Given the description of an element on the screen output the (x, y) to click on. 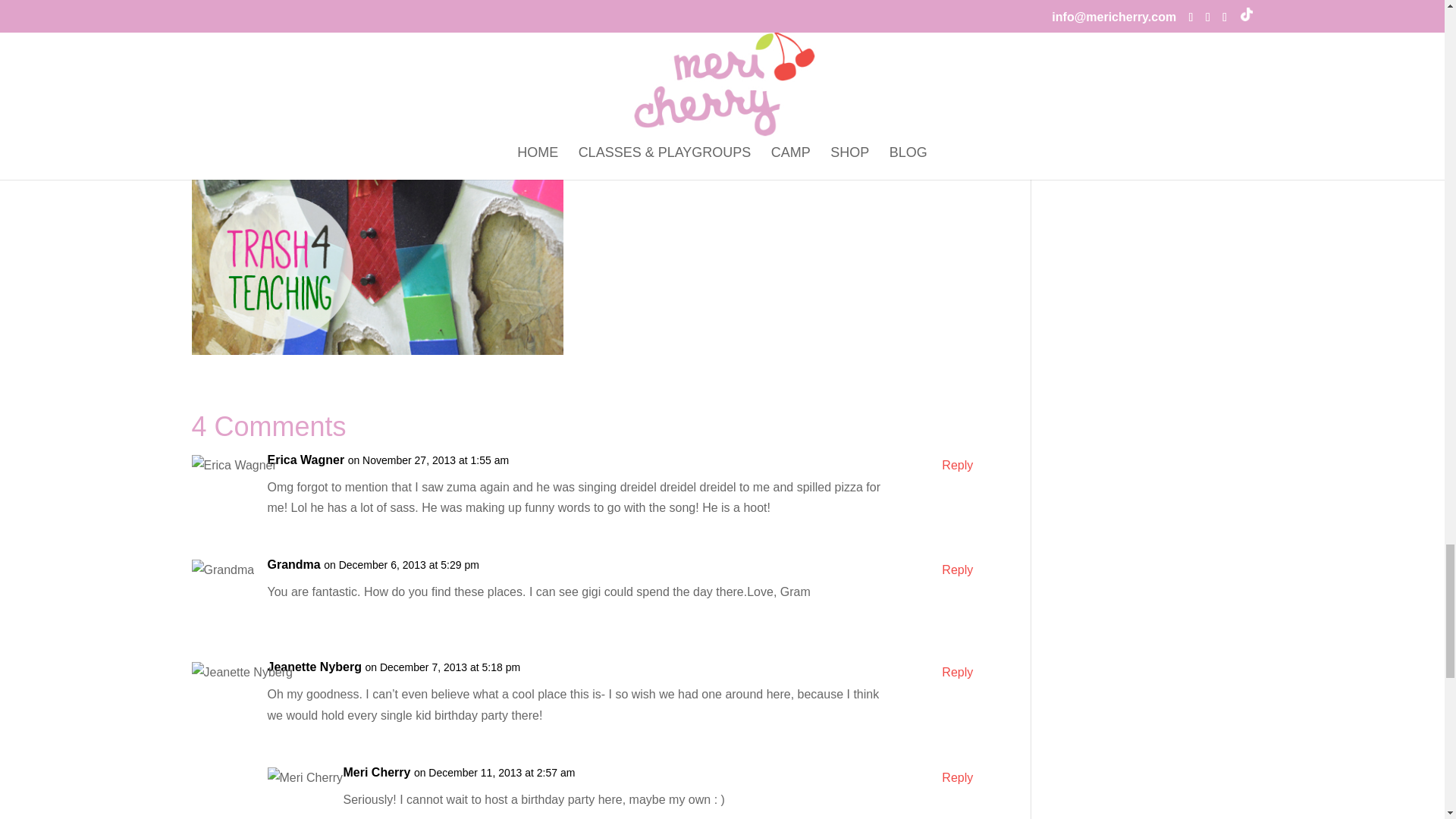
Reply (957, 465)
Reply (957, 777)
Reply (957, 569)
Jeanette Nyberg (313, 666)
Grandma (293, 564)
Reply (957, 671)
Meri Cherry (376, 772)
